Given the description of an element on the screen output the (x, y) to click on. 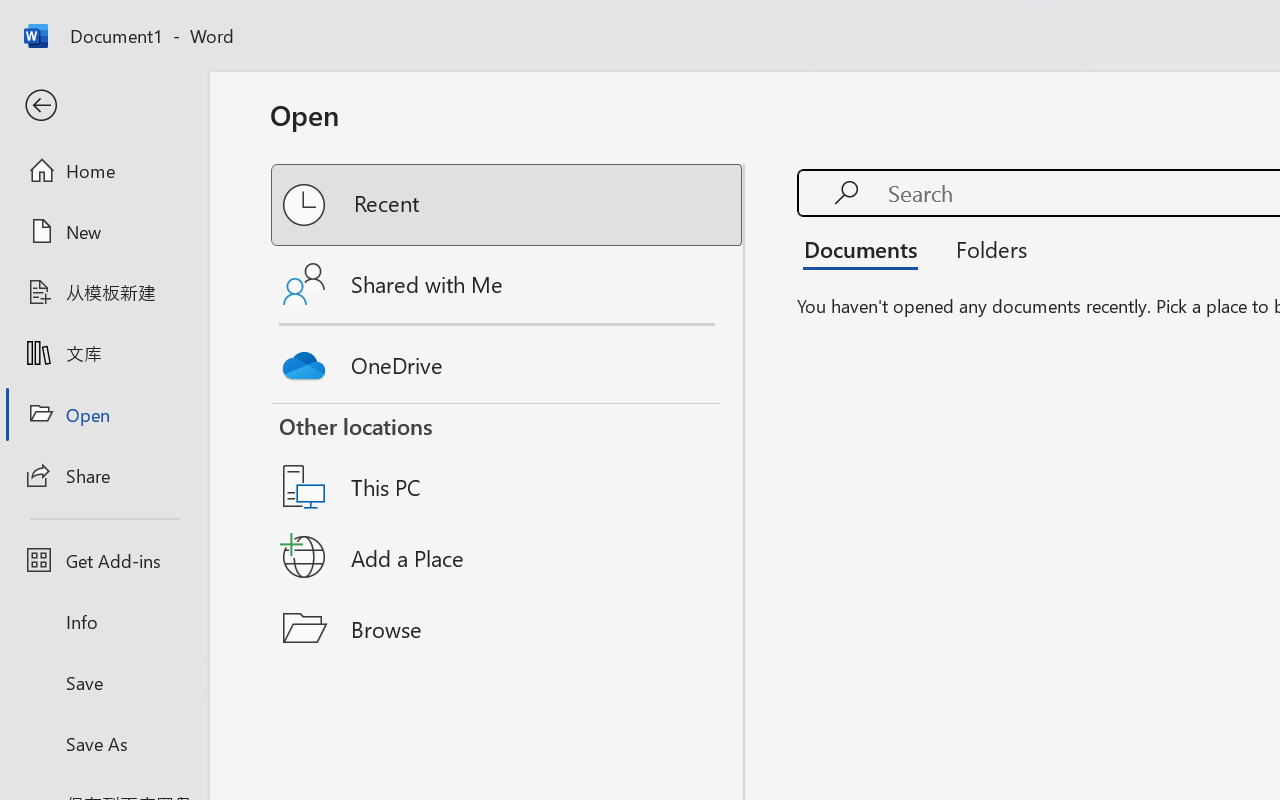
This PC (507, 461)
Info (104, 621)
Folders (984, 248)
OneDrive (507, 359)
